Given the description of an element on the screen output the (x, y) to click on. 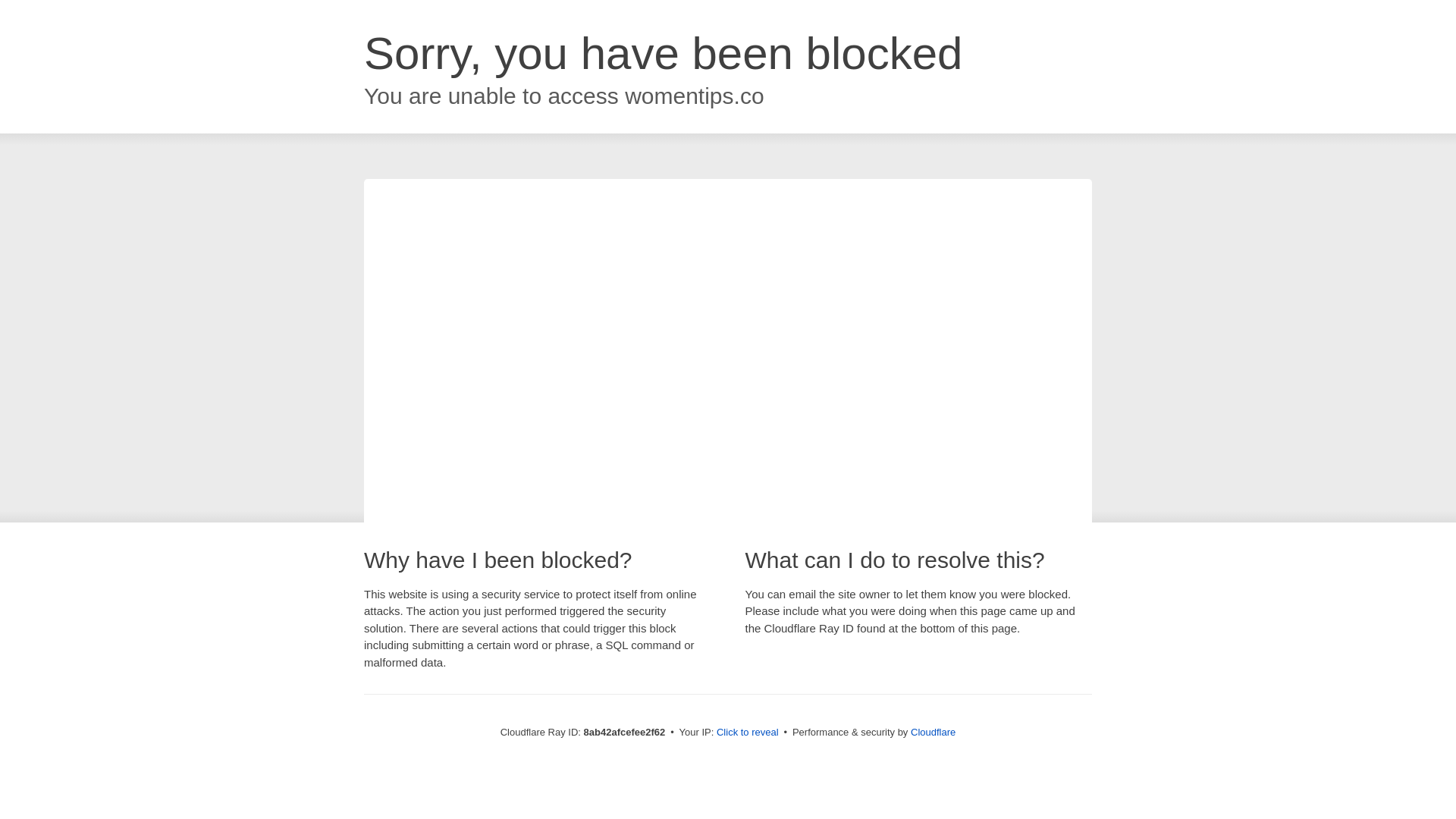
Click to reveal (747, 732)
Cloudflare (933, 731)
